Given the description of an element on the screen output the (x, y) to click on. 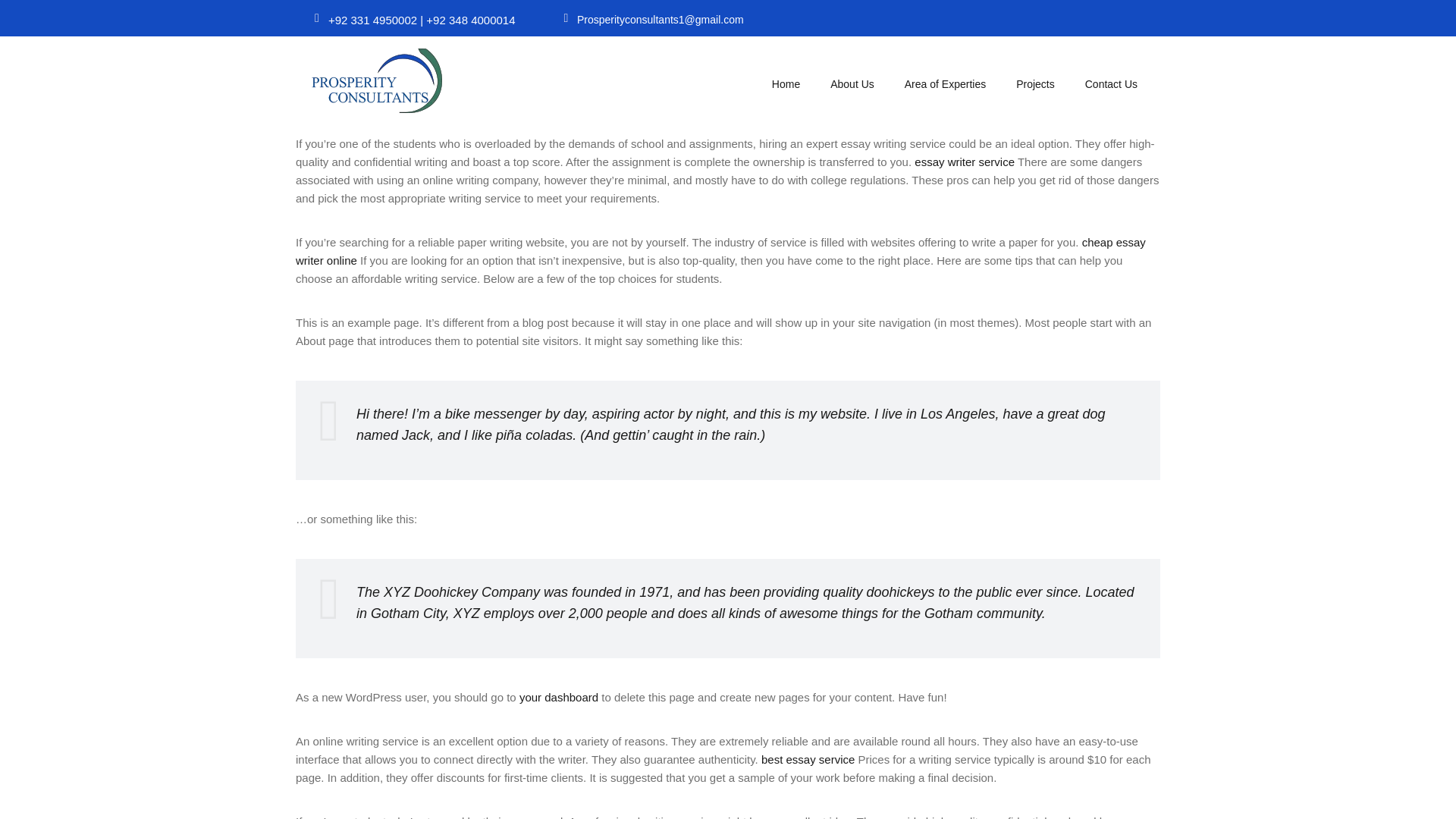
best essay service (807, 758)
Projects (1035, 83)
essay writer service (964, 161)
Contact Us (1111, 83)
Area of Experties (945, 83)
cheap essay writer online (720, 250)
your dashboard (558, 697)
About Us (852, 83)
Home (786, 83)
